Given the description of an element on the screen output the (x, y) to click on. 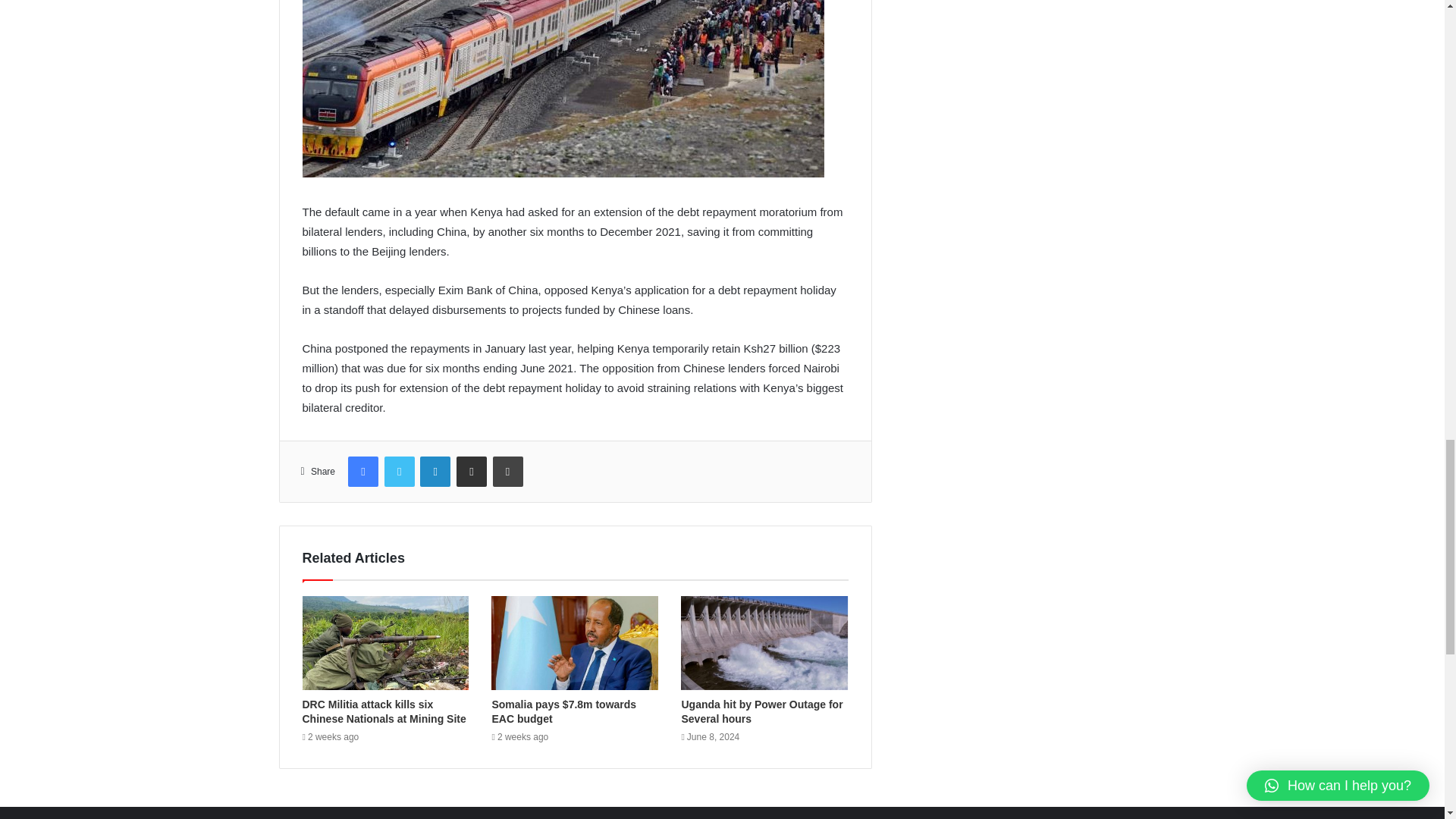
Twitter (399, 471)
Share via Email (471, 471)
LinkedIn (434, 471)
Print (507, 471)
Twitter (399, 471)
Facebook (362, 471)
Facebook (362, 471)
Print (507, 471)
LinkedIn (434, 471)
Share via Email (471, 471)
